Given the description of an element on the screen output the (x, y) to click on. 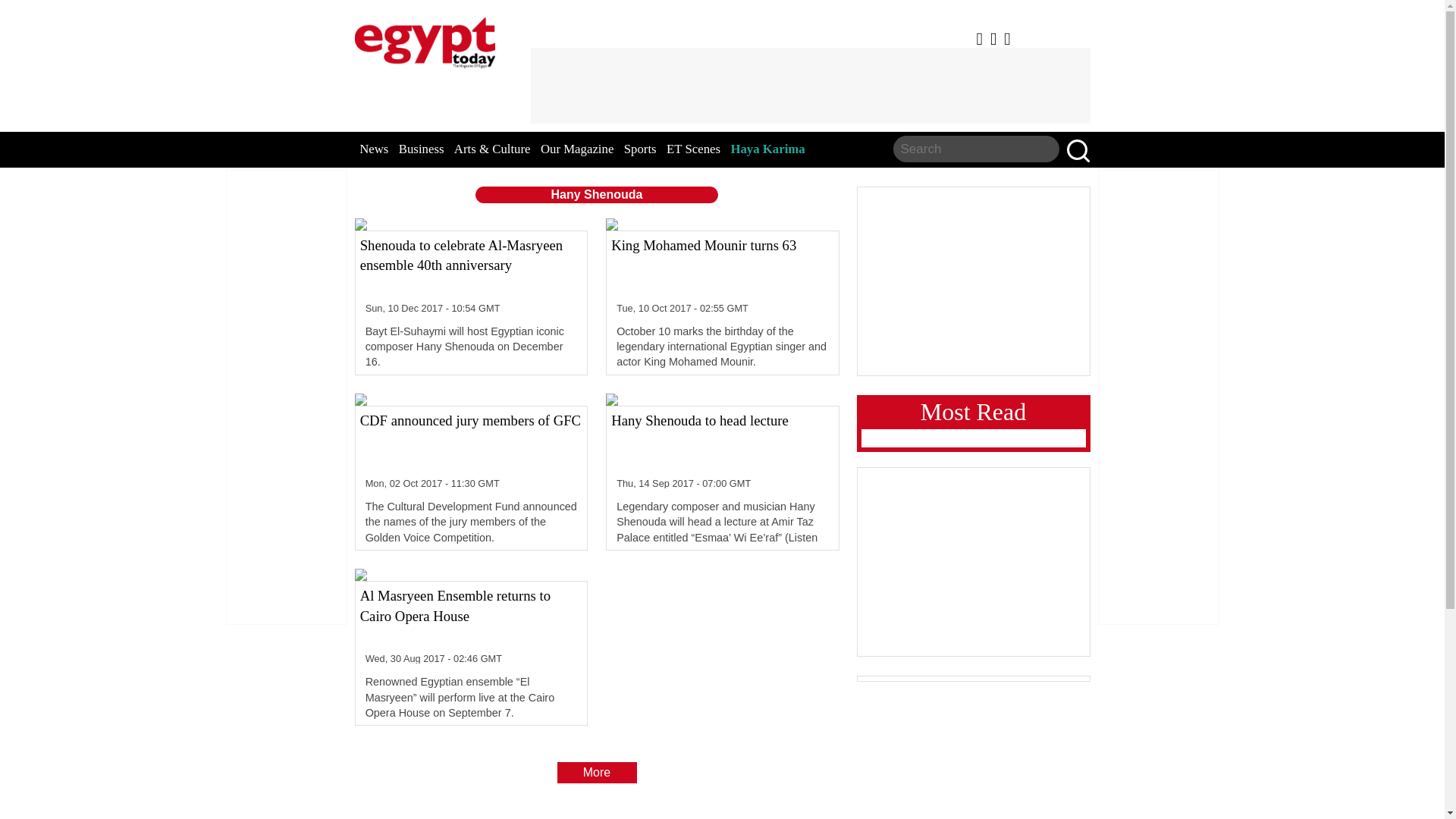
Hany Shenouda to head lecture (721, 441)
ET Scenes (693, 149)
EgyptToday (425, 39)
Haya Karima (767, 149)
Shenouda to celebrate Al-Masryeen ensemble 40th anniversary (470, 265)
Our Magazine (576, 149)
Business (421, 149)
CDF announced jury members of GFC (470, 441)
Al Masryeen Ensemble returns to Cairo Opera House (470, 616)
Sports (640, 149)
News (373, 149)
King Mohamed Mounir turns 63 (721, 265)
